Given the description of an element on the screen output the (x, y) to click on. 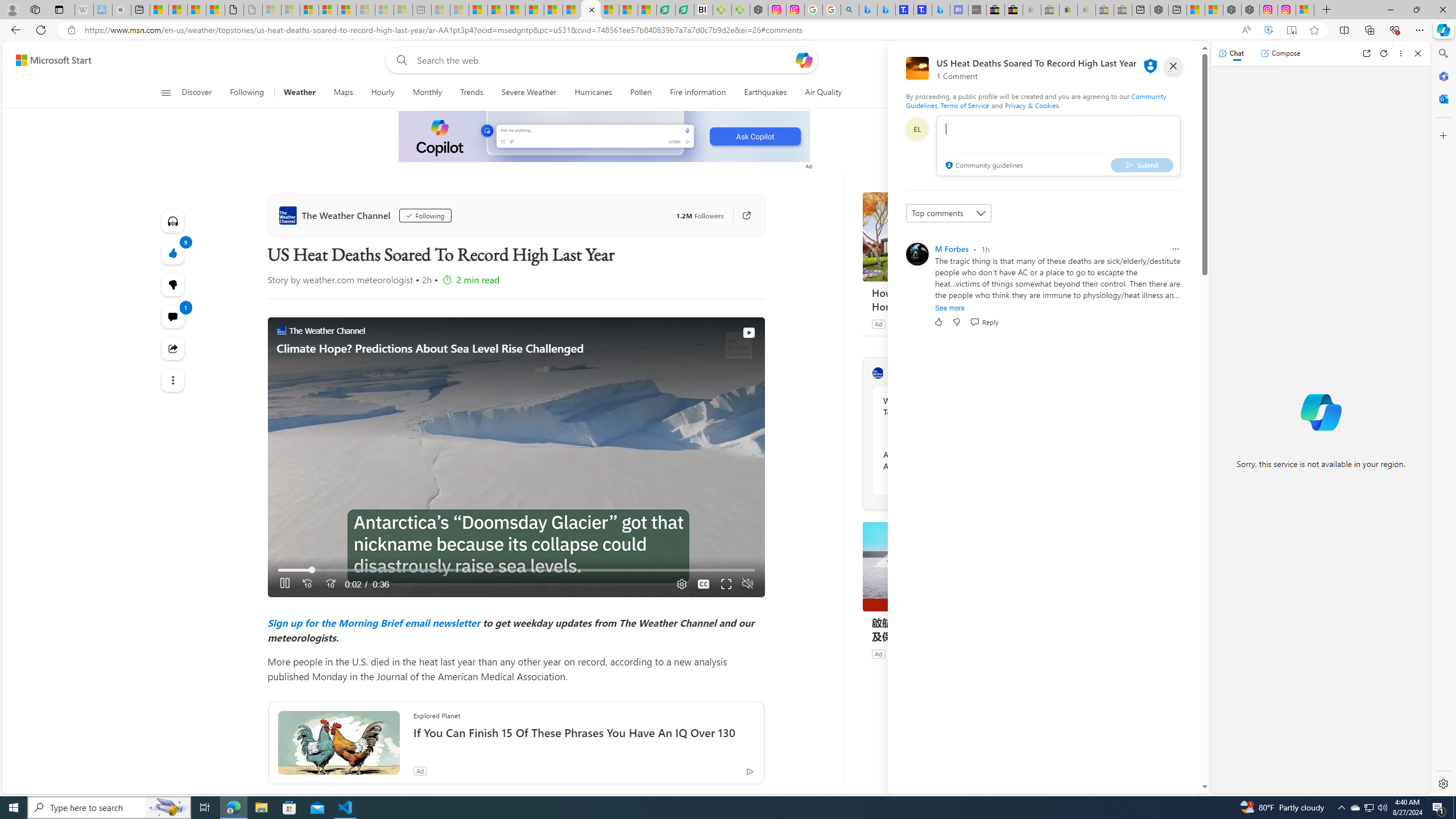
Microsoft Services Agreement - Sleeping (290, 9)
Threats and offensive language policy | eBay (1067, 9)
comment-box (1058, 145)
Captions (702, 583)
Buy iPad - Apple - Sleeping (121, 9)
Top Stories - MSN - Sleeping (440, 9)
Yard, Garden & Outdoor Living - Sleeping (1123, 9)
Nvidia va a poner a prueba la paciencia de los inversores (702, 9)
Press Room - eBay Inc. - Sleeping (1104, 9)
